Given the description of an element on the screen output the (x, y) to click on. 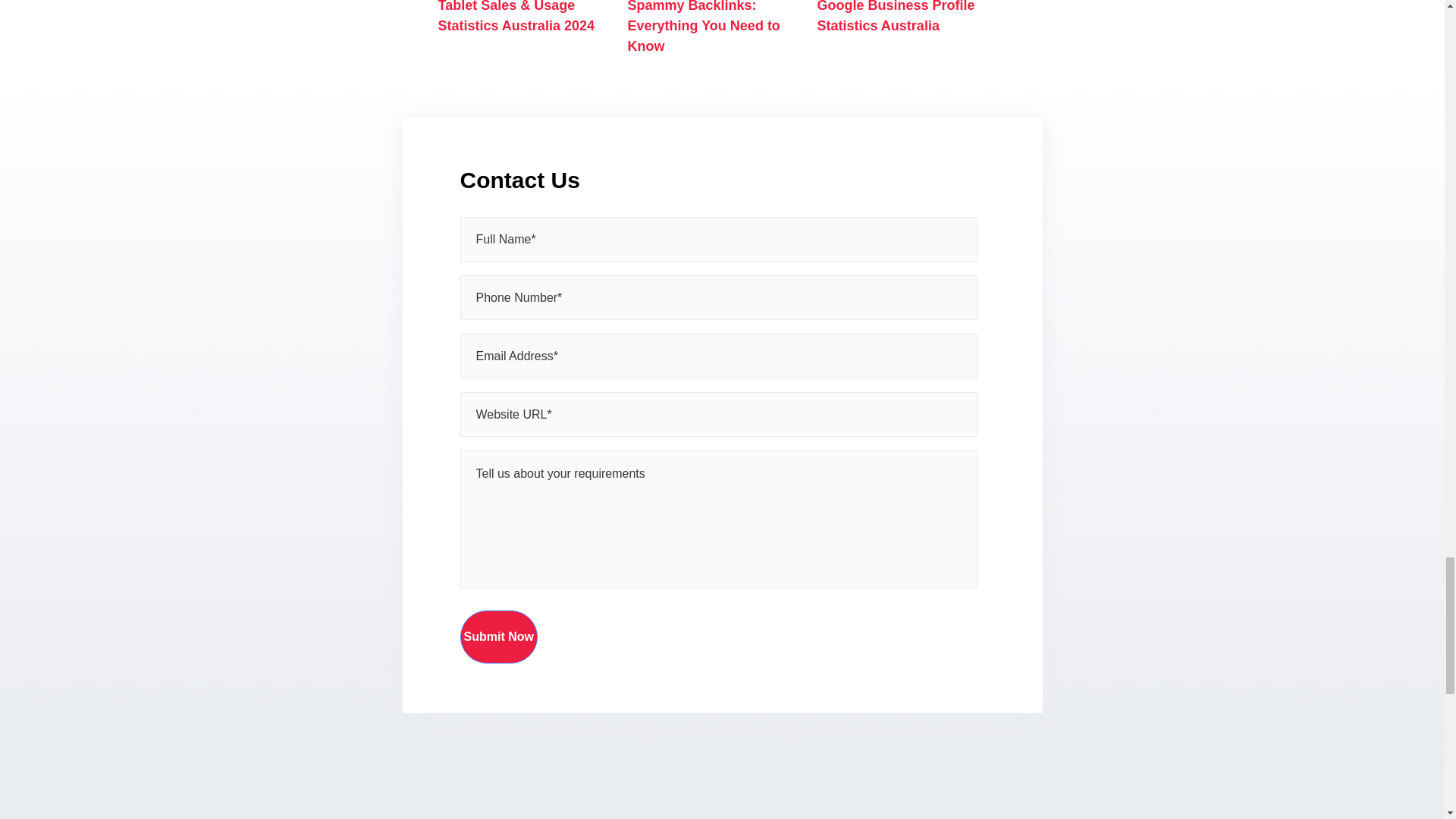
Submit Now (498, 636)
Submit Now (498, 636)
Spammy Backlinks: Everything You Need to Know (703, 27)
Google Business Profile Statistics Australia (895, 16)
